Given the description of an element on the screen output the (x, y) to click on. 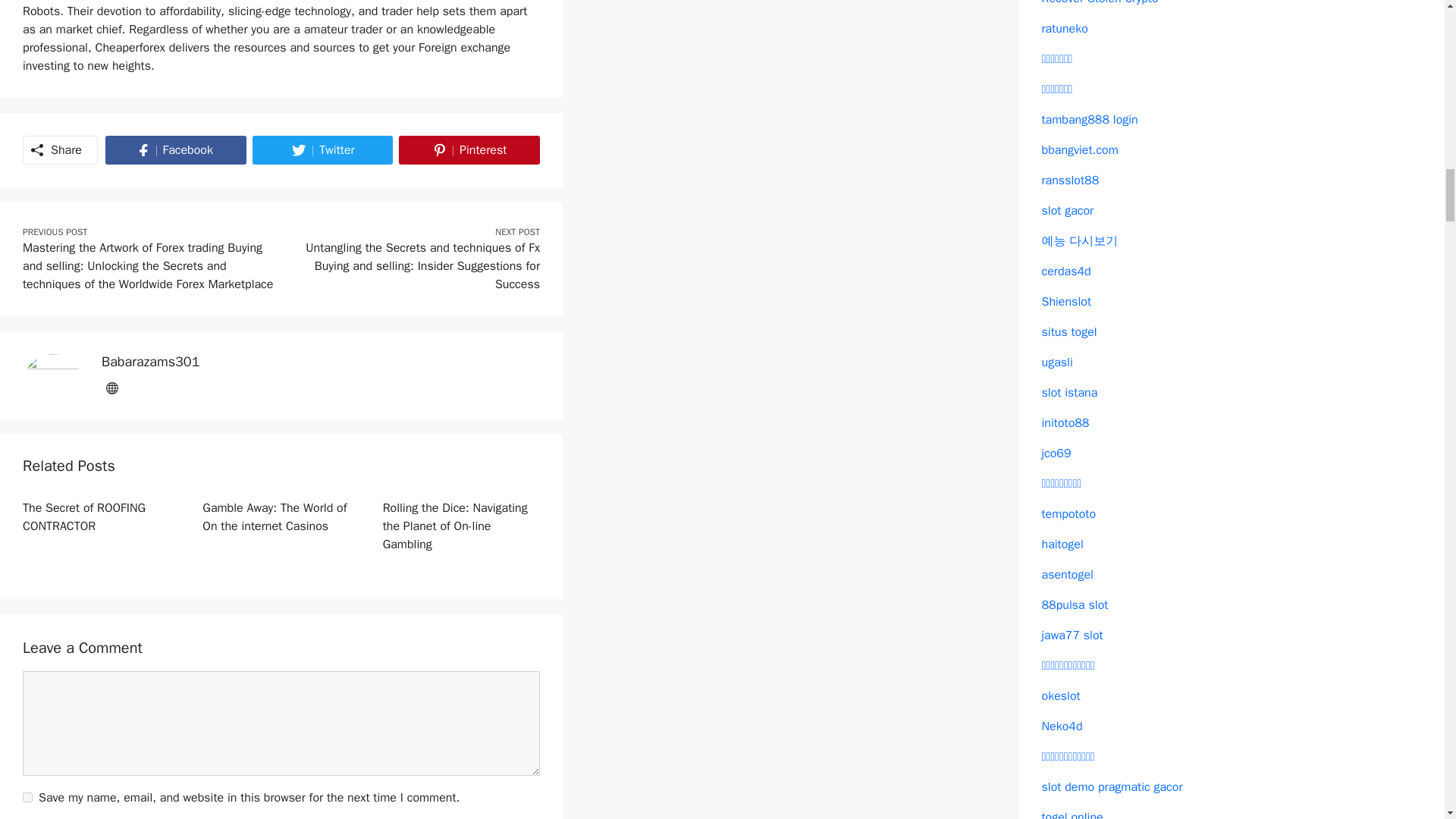
Next post (414, 266)
Pin on Pinterest (469, 149)
Gamble Away: The World of On the internet Casinos (274, 516)
Rolling the Dice: Navigating the Planet of On-line Gambling (454, 526)
The Secret of ROOFING CONTRACTOR (84, 516)
Previous post (148, 266)
Gamble Away: The World of On the internet Casinos (469, 149)
Author babarazams301 (274, 516)
Share on Facebook (150, 361)
Share on Twitter (322, 149)
Rolling the Dice: Navigating the Planet of On-line Gambling (175, 149)
Babarazams301 (322, 149)
